Given the description of an element on the screen output the (x, y) to click on. 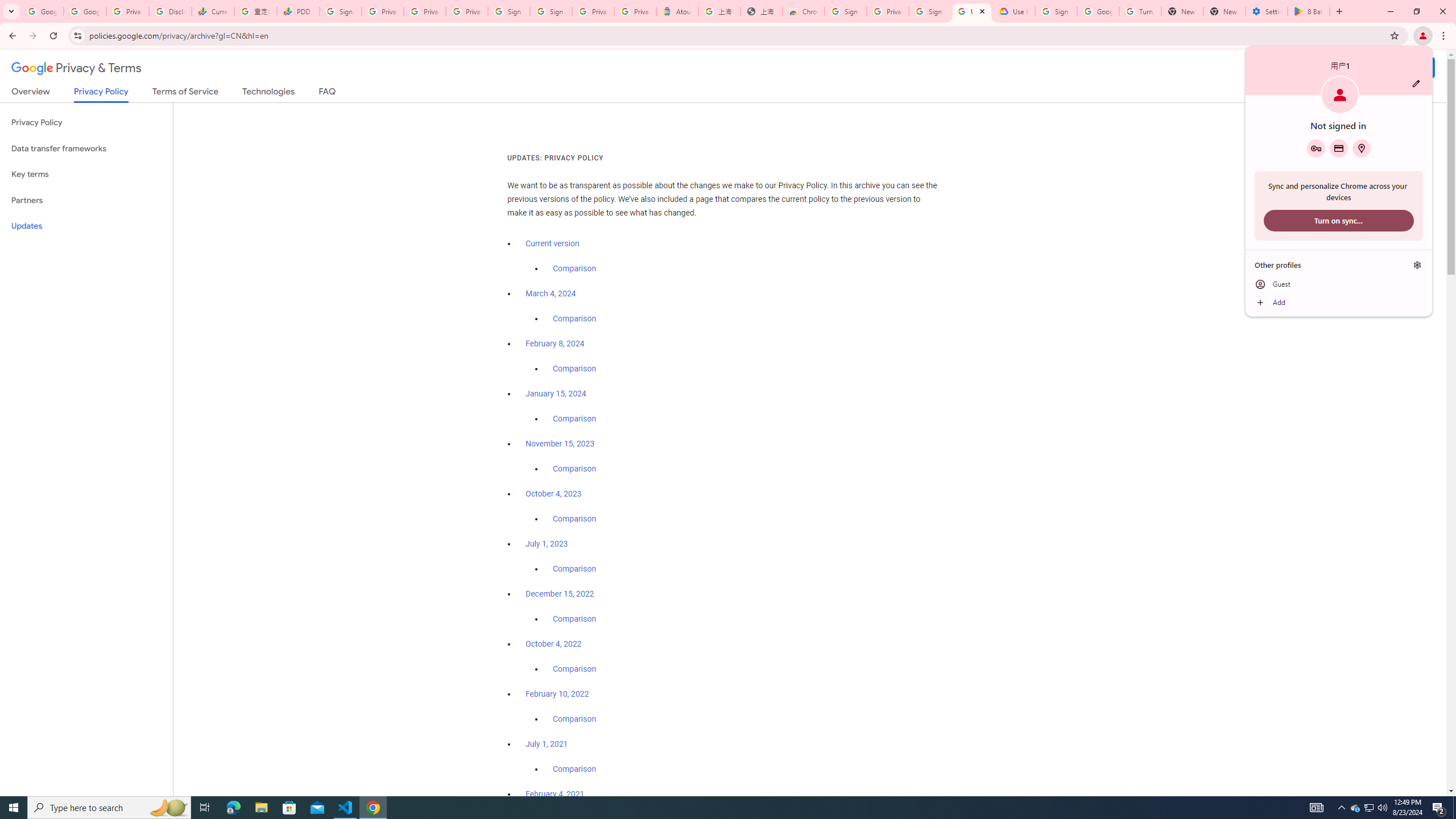
Payment methods (1338, 148)
Sign in - Google Accounts (930, 11)
Sign in - Google Accounts (509, 11)
February 4, 2021 (555, 793)
8 Ball Pool - Apps on Google Play (1308, 11)
Q2790: 100% (1382, 807)
Sign in - Google Accounts (340, 11)
Google Account Help (1368, 807)
July 1, 2021 (1097, 11)
